Given the description of an element on the screen output the (x, y) to click on. 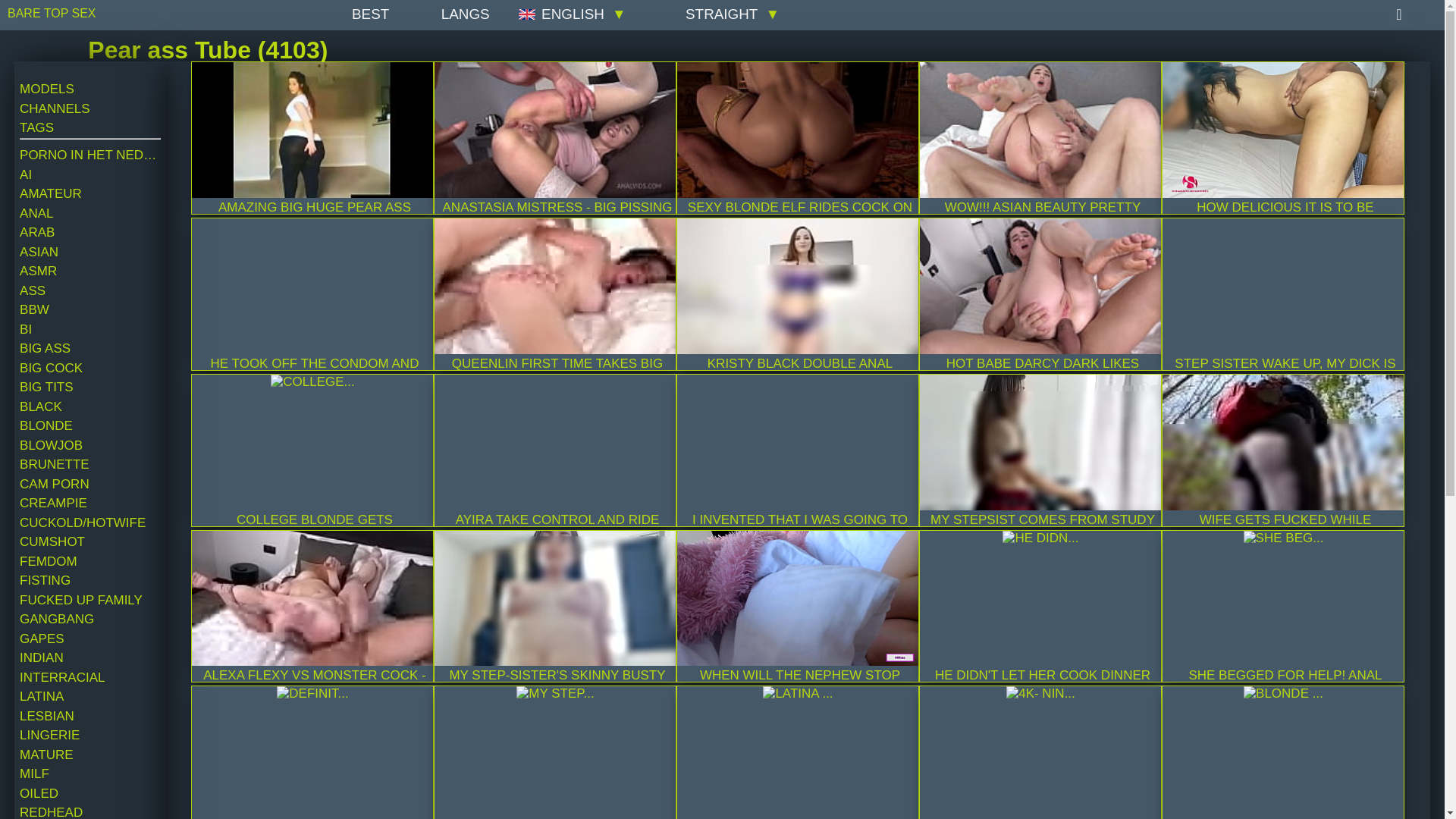
Amazing big huge pear ass (312, 130)
BARE TOP SEX (75, 15)
HOT BABE DARCY DARK LIKES HARD ANAL SEX - ONLY ANAL (1040, 285)
TAGS (90, 127)
ENGLISH (577, 13)
BEST (359, 13)
Ayira Take control and ride the cock like an Amazon (554, 442)
When Will The Nephew Stop Fucking His Own Step-Aunt? (797, 598)
WOW!!! Asian Beauty Pretty Mary Takes Monster Cock in Anal (1040, 130)
How delicious it is to be fucked with the thong on its side (1282, 130)
QUEENLIN FIRST TIME TAKES BIG COCK IN THE ASS - ONLY ANAL (554, 285)
MODELS (90, 89)
